Given the description of an element on the screen output the (x, y) to click on. 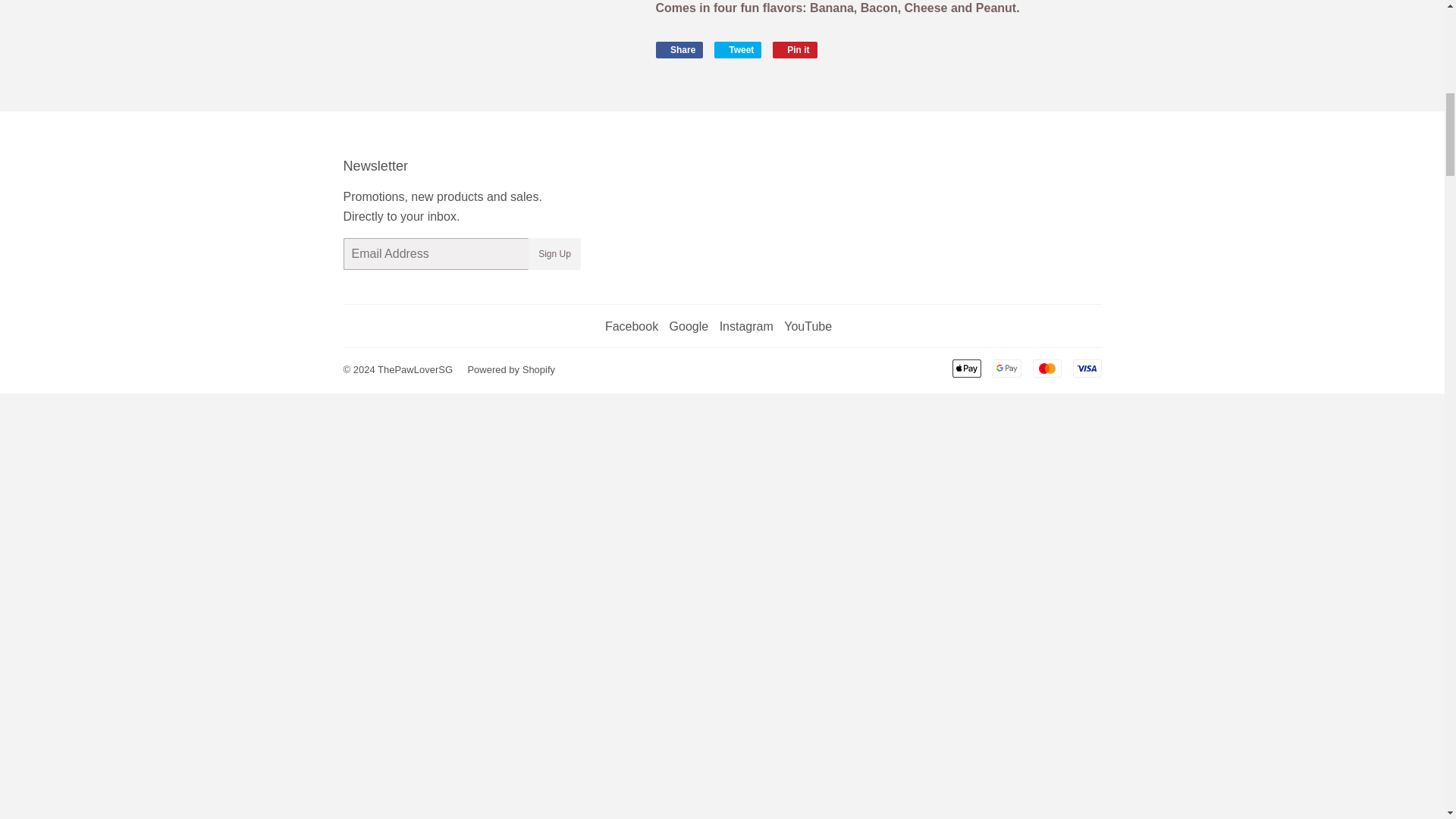
Apple Pay (966, 368)
Pin on Pinterest (794, 49)
ThePawLoverSG on Instagram (746, 326)
ThePawLoverSG on YouTube (807, 326)
Tweet on Twitter (737, 49)
ThePawLoverSG on Google (689, 326)
ThePawLoverSG on Facebook (631, 326)
Share on Facebook (679, 49)
Google Pay (1005, 368)
Mastercard (1046, 368)
Visa (1085, 368)
